Given the description of an element on the screen output the (x, y) to click on. 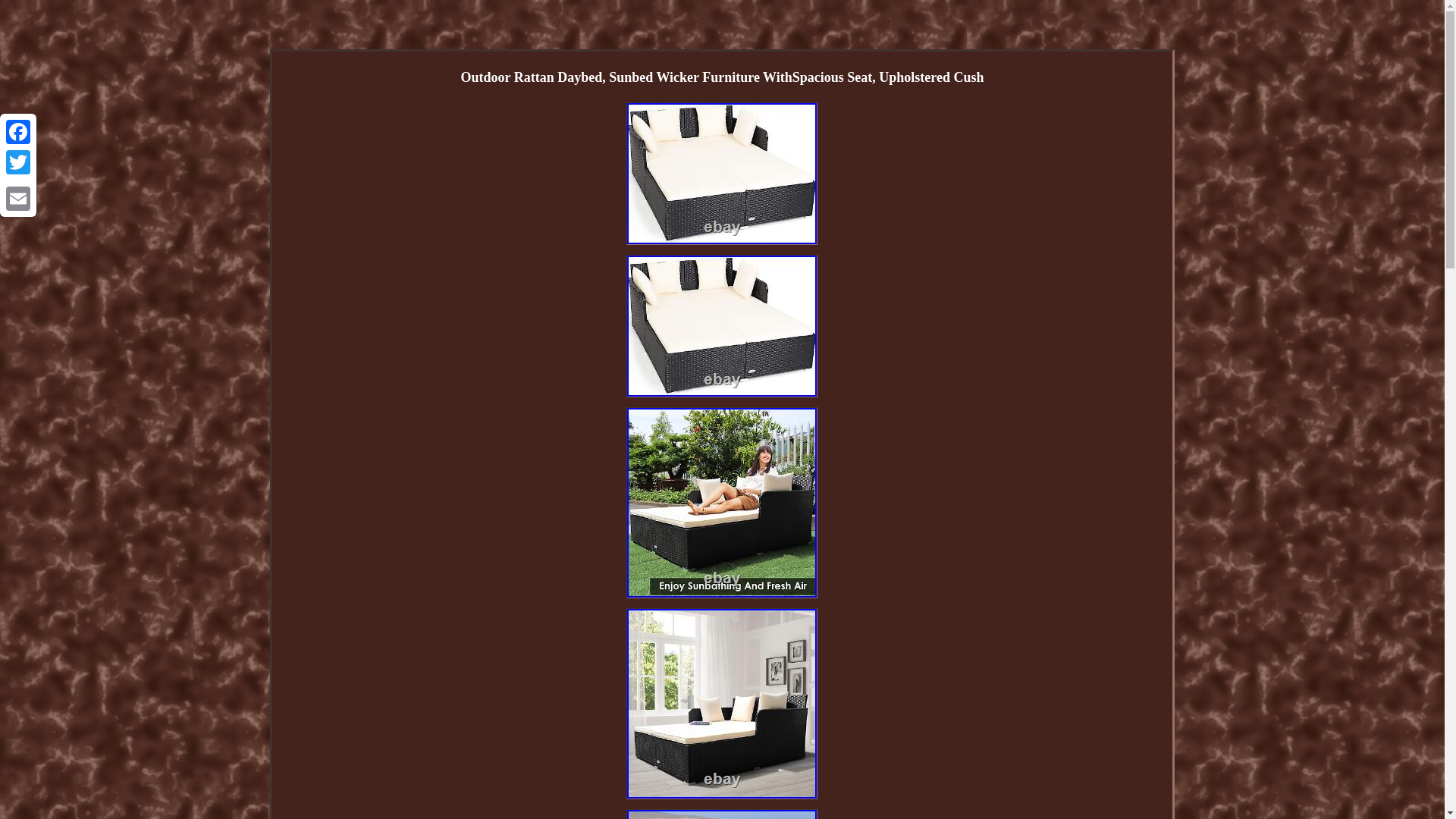
Email (17, 198)
Facebook (17, 132)
Twitter (17, 162)
